Given the description of an element on the screen output the (x, y) to click on. 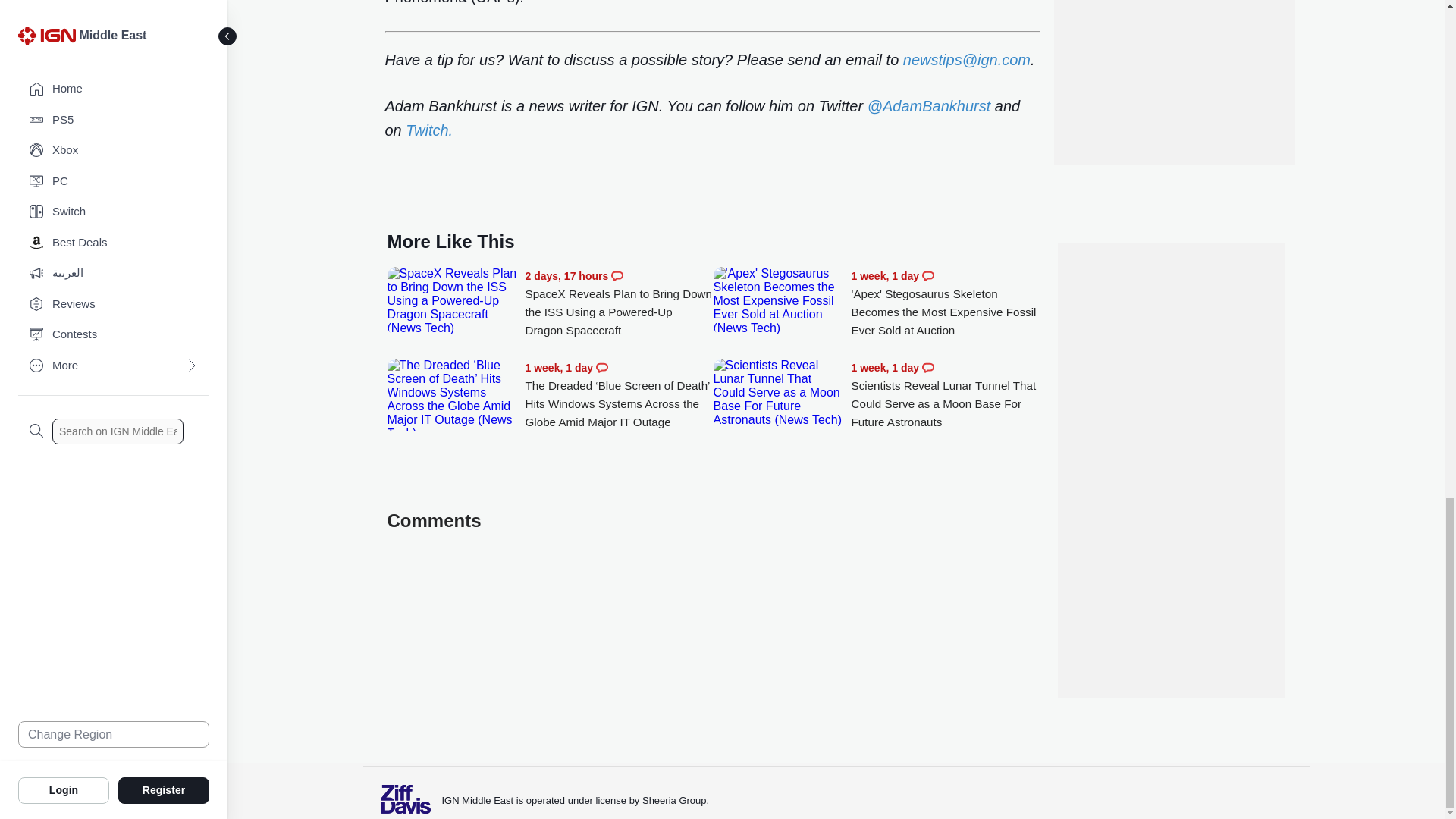
Comments (927, 275)
Comments (927, 367)
Comments (617, 275)
Comments (601, 367)
